Given the description of an element on the screen output the (x, y) to click on. 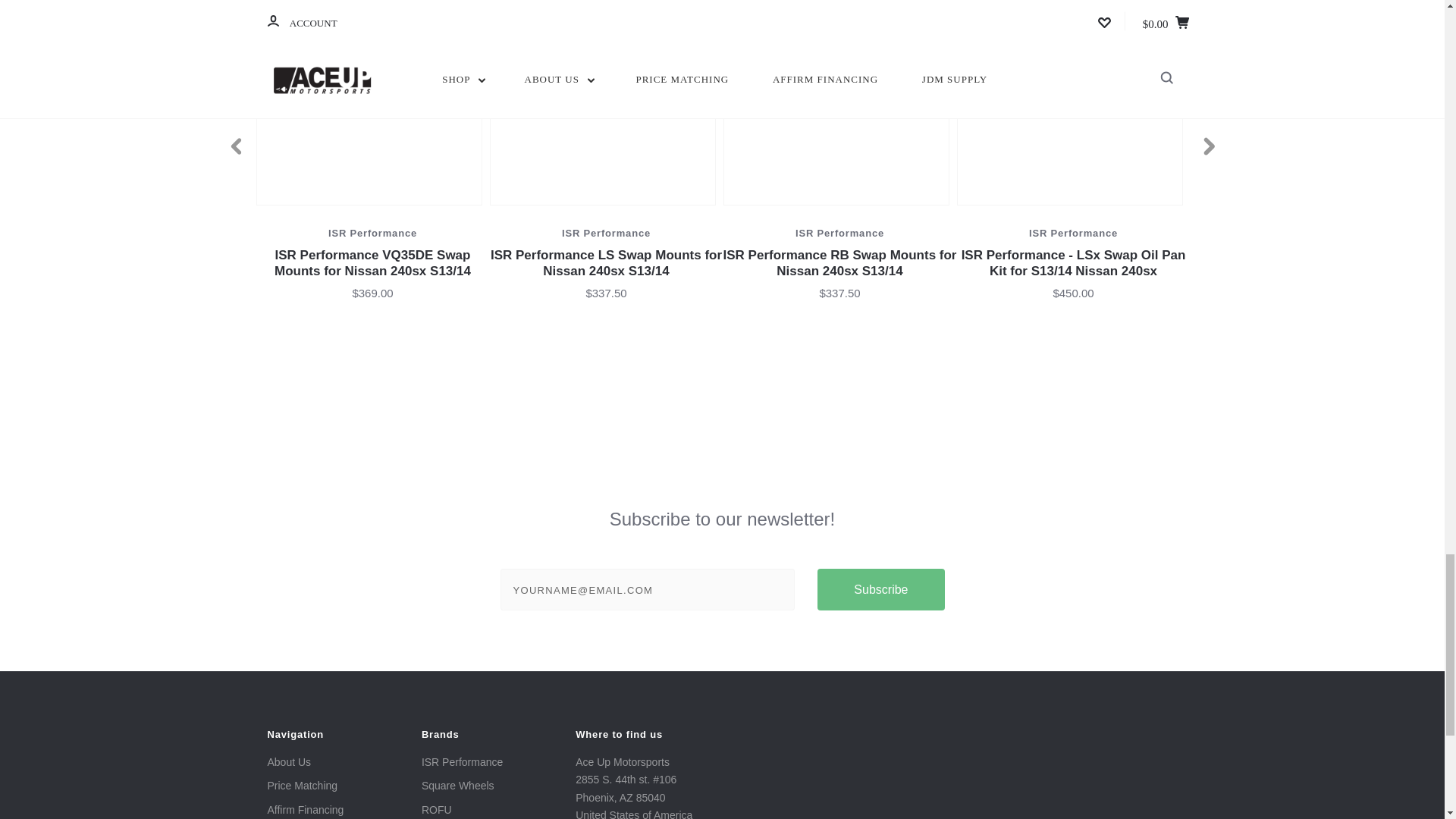
Subscribe (879, 589)
